Given the description of an element on the screen output the (x, y) to click on. 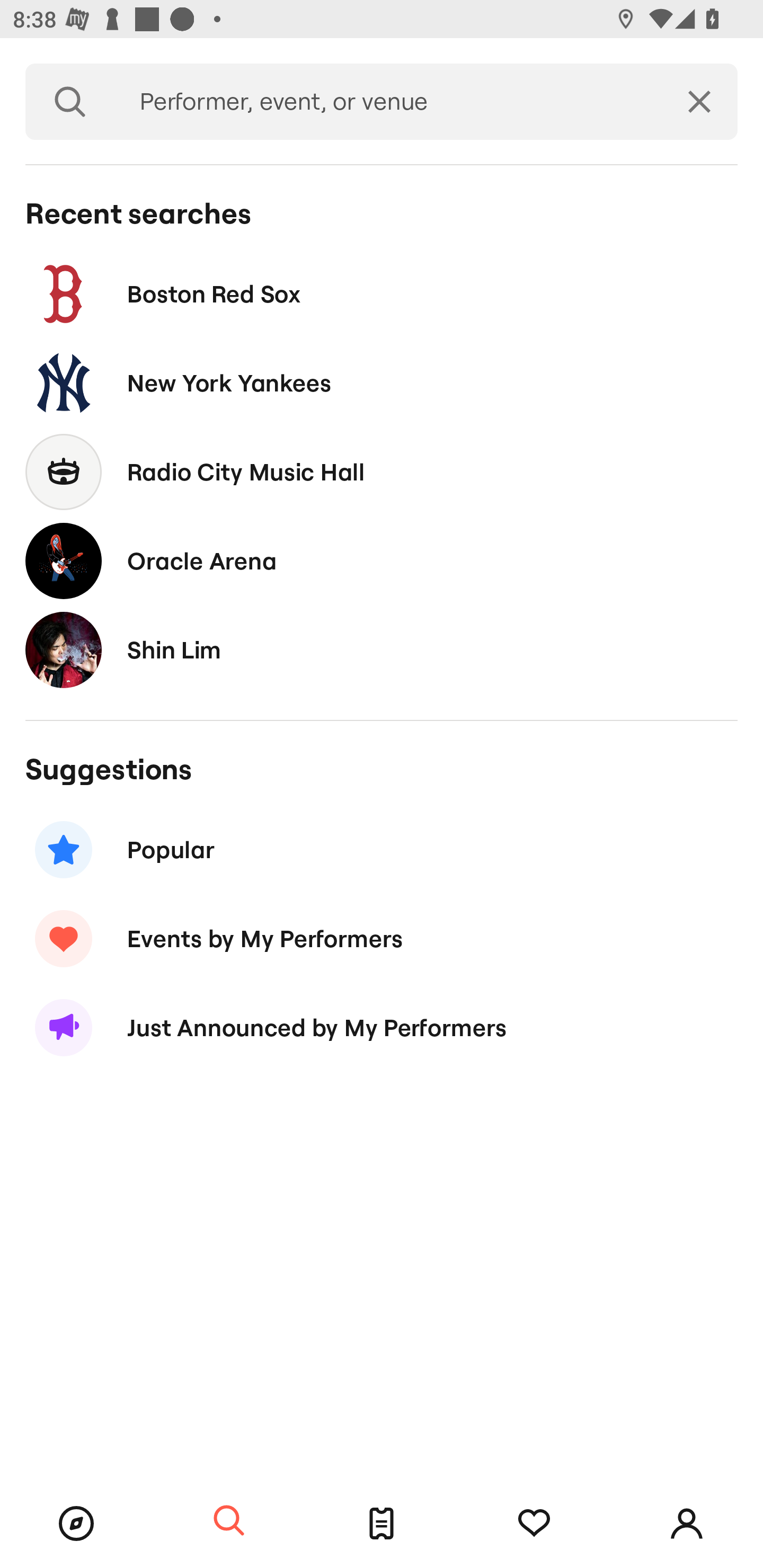
Search (69, 101)
Performer, event, or venue (387, 101)
Clear (699, 101)
Boston Red Sox (381, 293)
New York Yankees (381, 383)
Radio City Music Hall (381, 471)
Oracle Arena (381, 560)
Shin Lim (381, 649)
Popular (381, 849)
Events by My Performers (381, 938)
Just Announced by My Performers (381, 1027)
Browse (76, 1523)
Search (228, 1521)
Tickets (381, 1523)
Tracking (533, 1523)
Account (686, 1523)
